Given the description of an element on the screen output the (x, y) to click on. 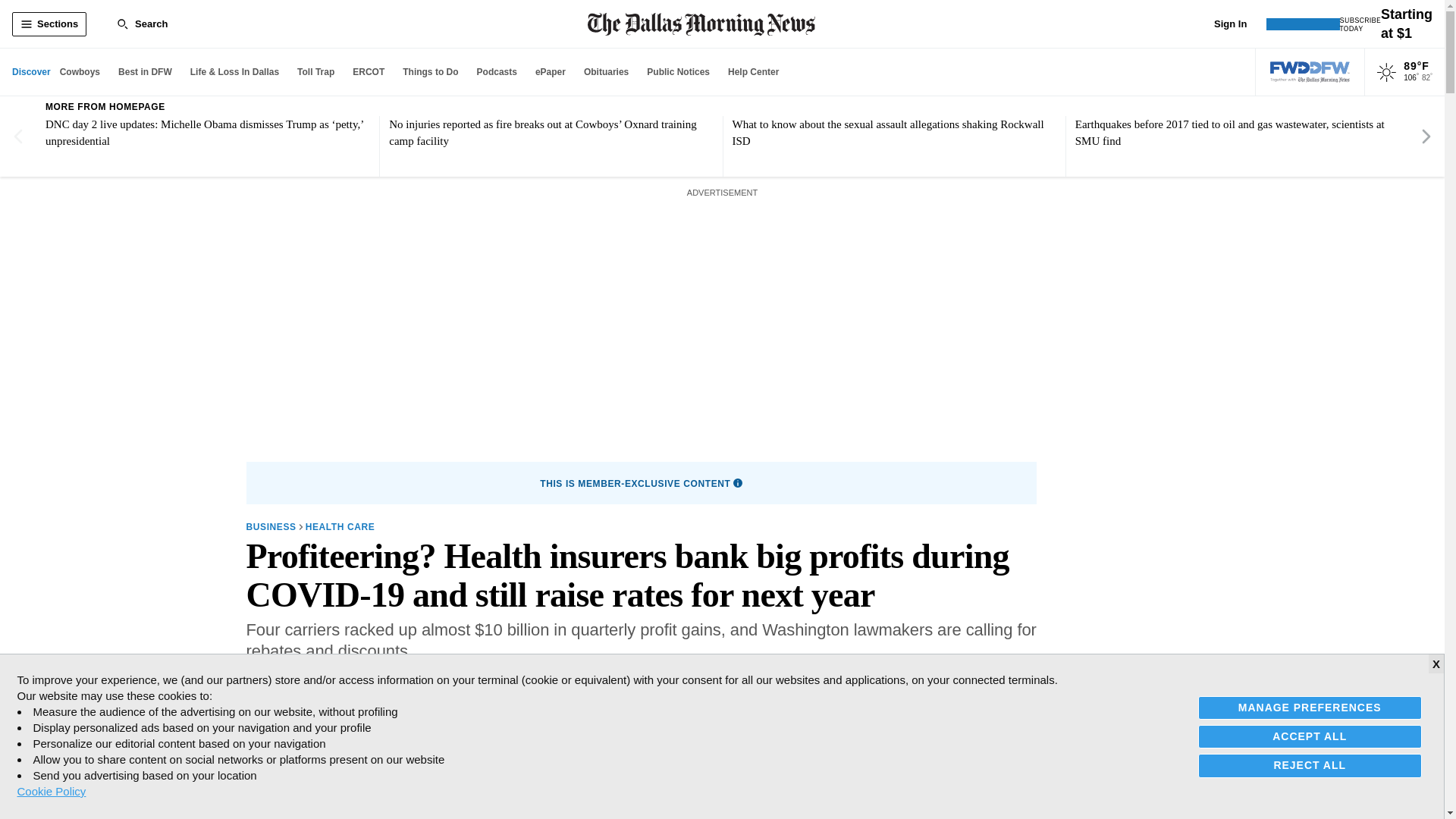
Cookie Policy (50, 790)
FWD DFW, Together with The Dallas Morning News (1310, 72)
MANAGE PREFERENCES (1310, 707)
ACCEPT ALL (1310, 736)
REJECT ALL (1310, 765)
Clear sky (1386, 72)
